Given the description of an element on the screen output the (x, y) to click on. 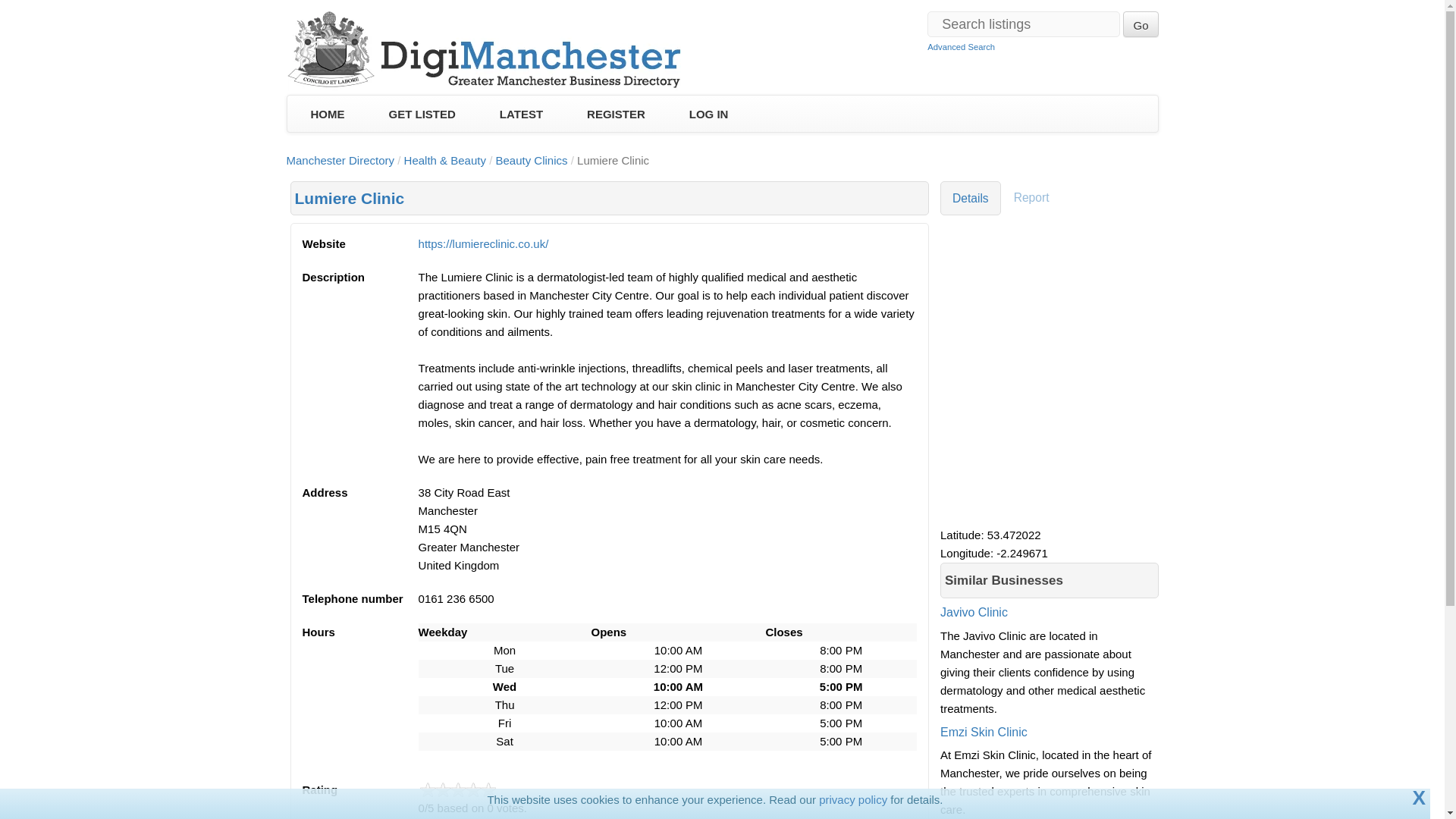
Advanced Search (960, 46)
Lumiere Clinic (349, 198)
LOG IN (708, 114)
Go (1139, 23)
Beauty Clinics (531, 160)
Manchester Directory (340, 160)
Javivo Clinic (1049, 624)
HOME (326, 114)
Emzi Skin Clinic (1049, 755)
LATEST (520, 114)
REGISTER (615, 114)
Report (1032, 197)
GET LISTED (422, 114)
Details (970, 197)
privacy policy (852, 799)
